Given the description of an element on the screen output the (x, y) to click on. 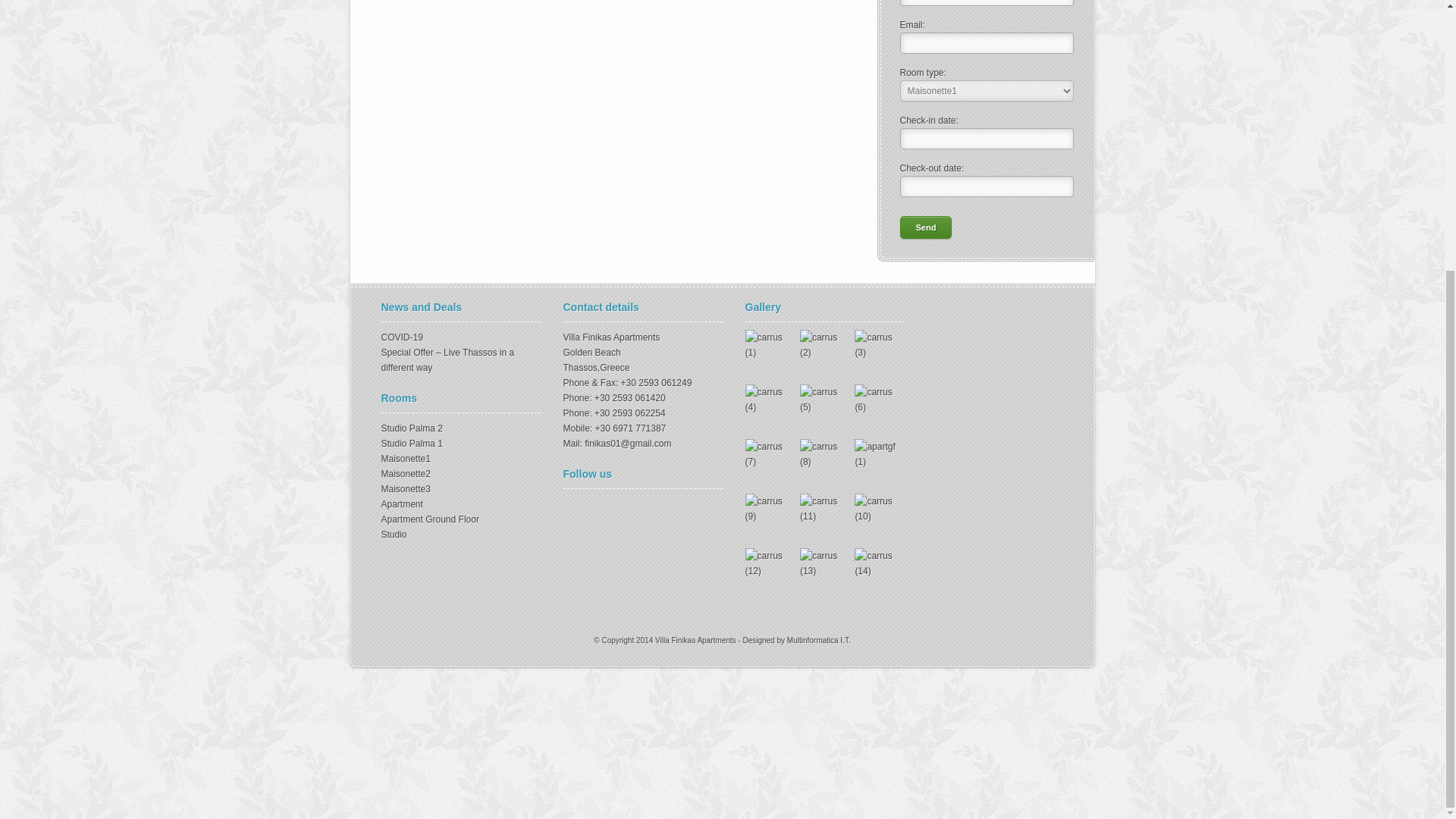
Send (427, 223)
Maisonette2 (426, 467)
Apartment (422, 498)
Maisonette3 (426, 482)
COVID-19 (422, 330)
Send (427, 223)
OK (550, 218)
Maisonette1 (426, 452)
Studio Palma 2 (432, 421)
OK (550, 170)
Studio (414, 528)
Apartment Ground Floor (450, 512)
Studio Palma 1 (432, 437)
